Given the description of an element on the screen output the (x, y) to click on. 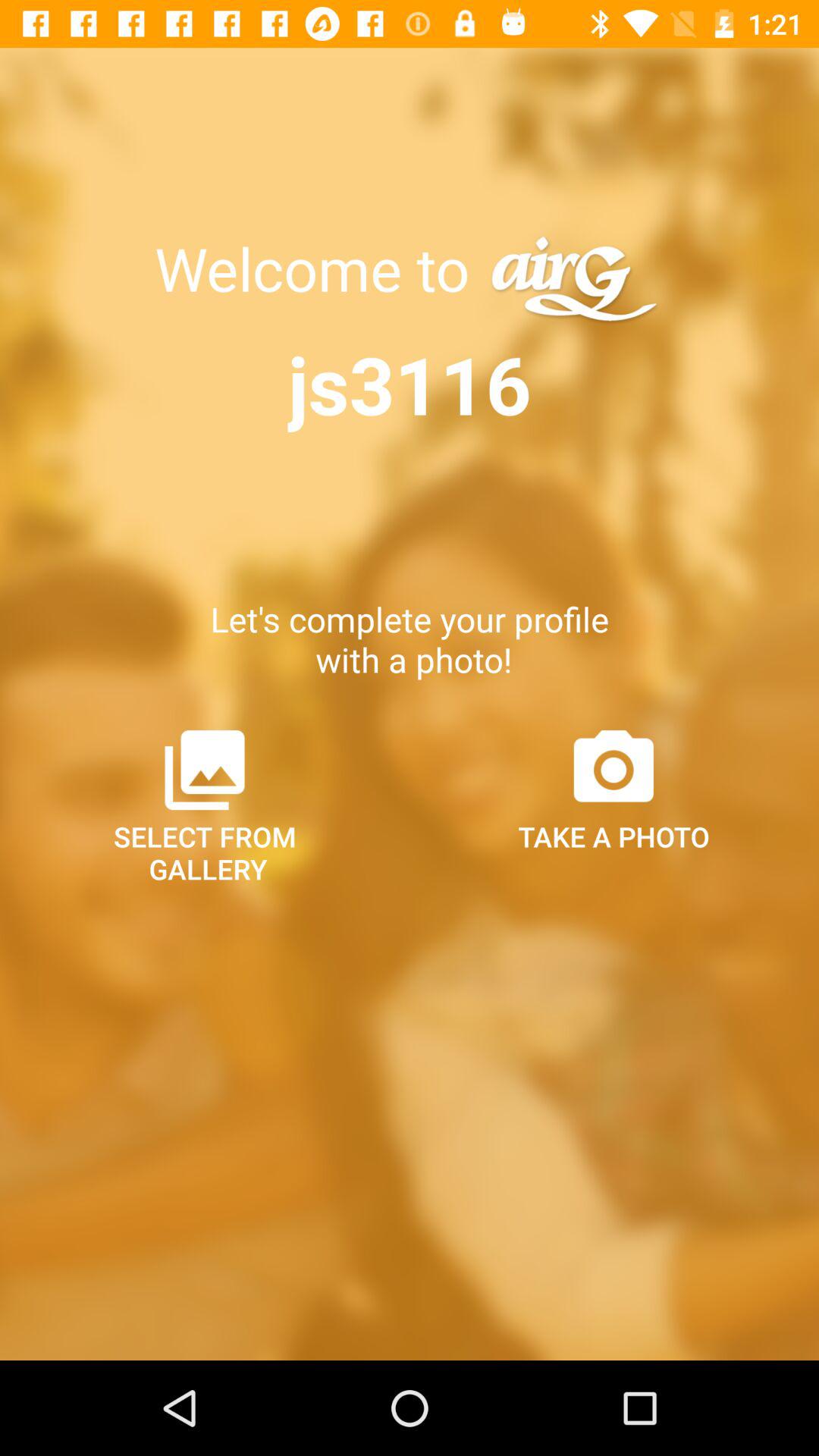
swipe until select from
 gallery icon (204, 804)
